Given the description of an element on the screen output the (x, y) to click on. 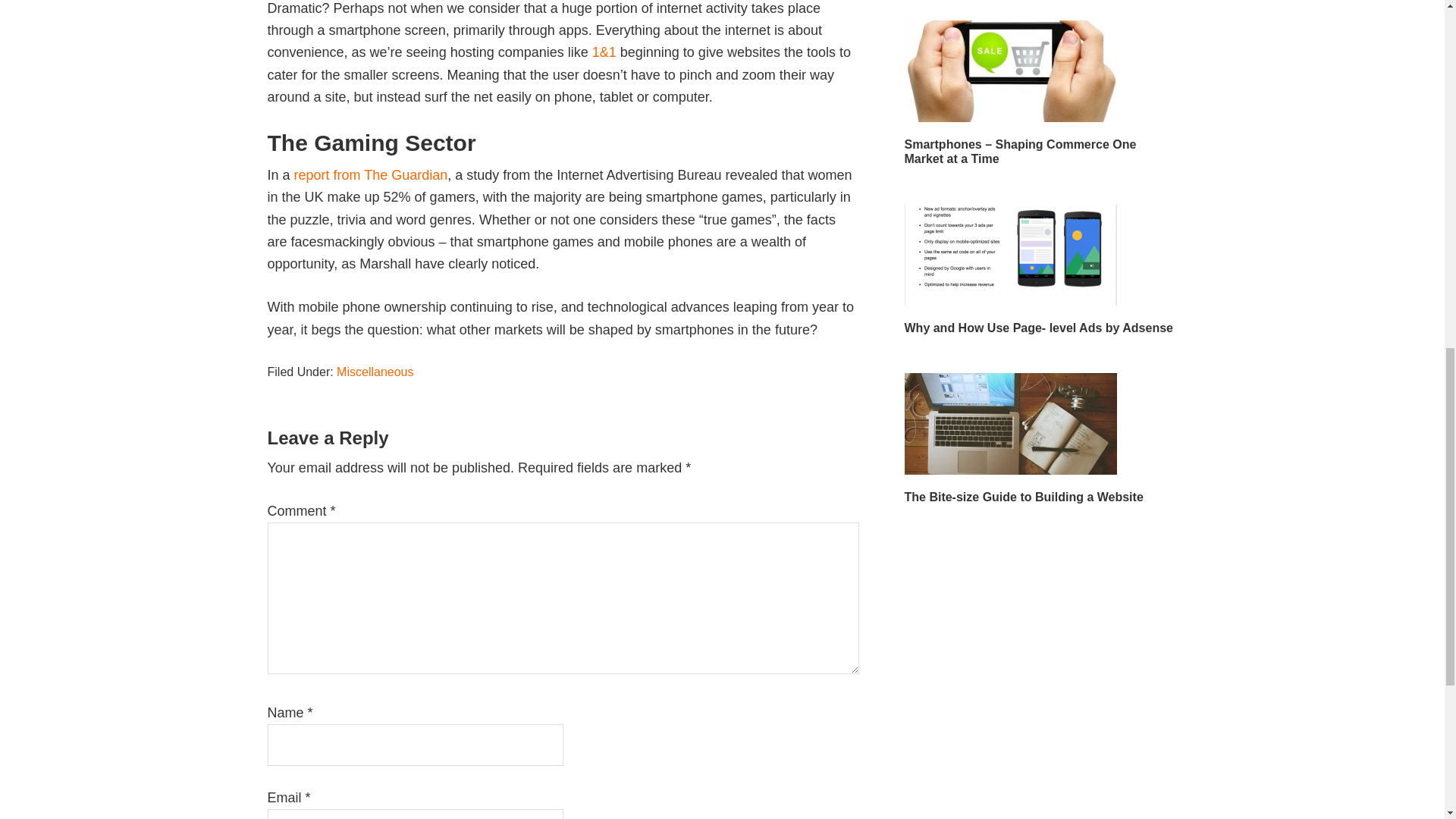
Miscellaneous (374, 371)
report from The Guardian (371, 174)
Why and How Use Page- level Ads by Adsense (1038, 327)
The Bite-size Guide to Building a Website (1023, 496)
